Given the description of an element on the screen output the (x, y) to click on. 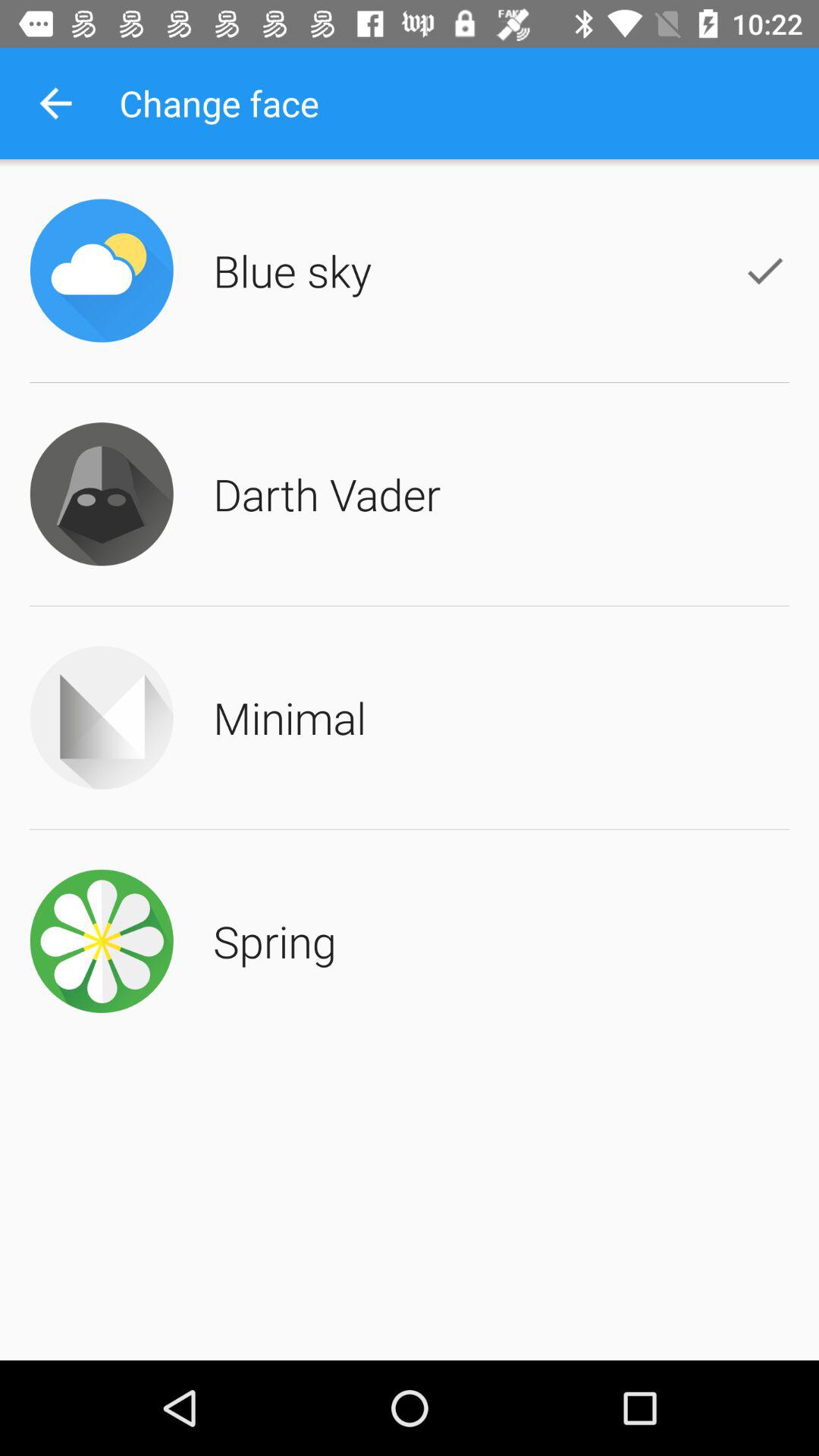
open the icon next to change face item (55, 103)
